Given the description of an element on the screen output the (x, y) to click on. 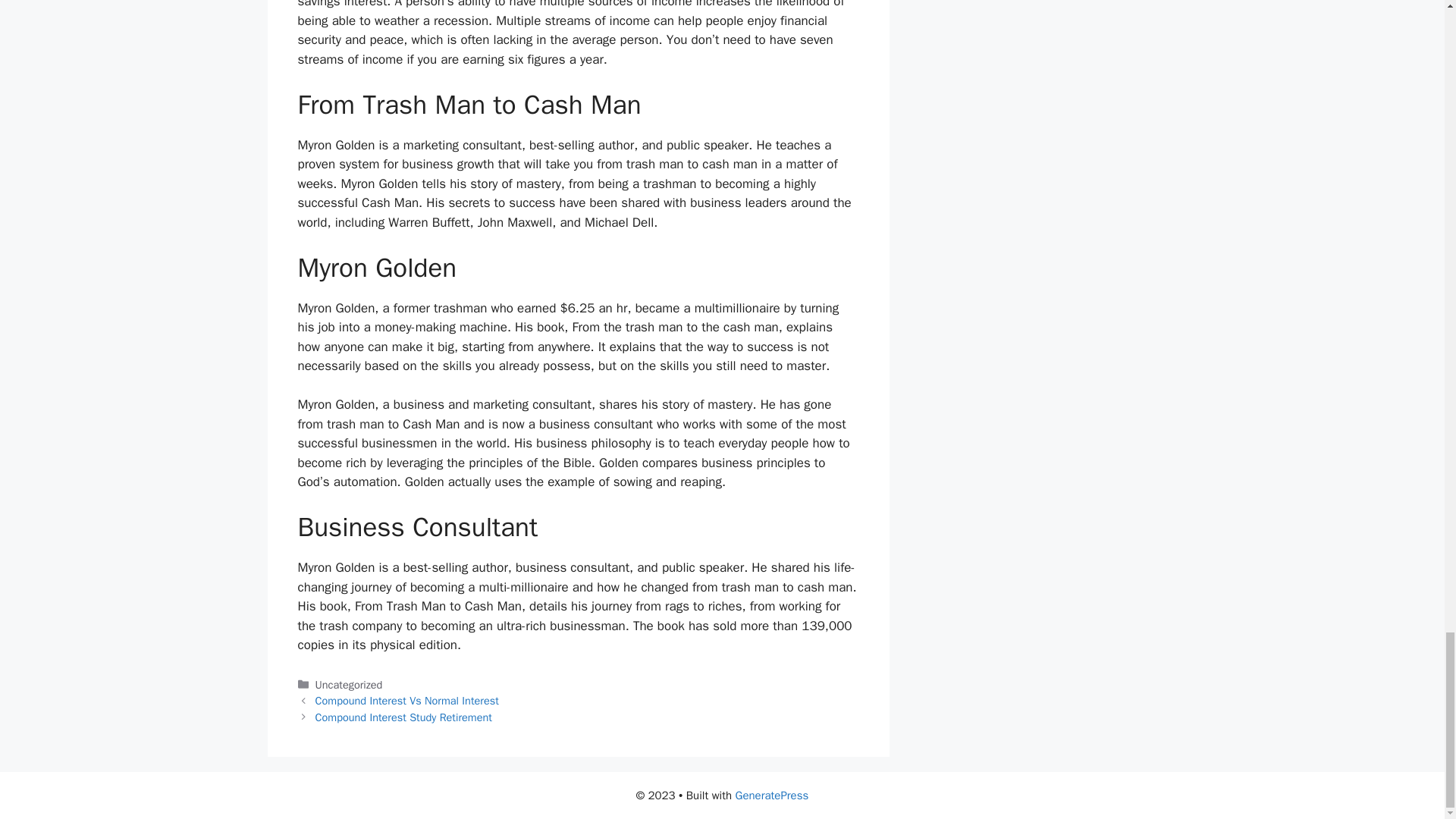
GeneratePress (772, 795)
Compound Interest Study Retirement (403, 716)
Compound Interest Vs Normal Interest (407, 700)
